Given the description of an element on the screen output the (x, y) to click on. 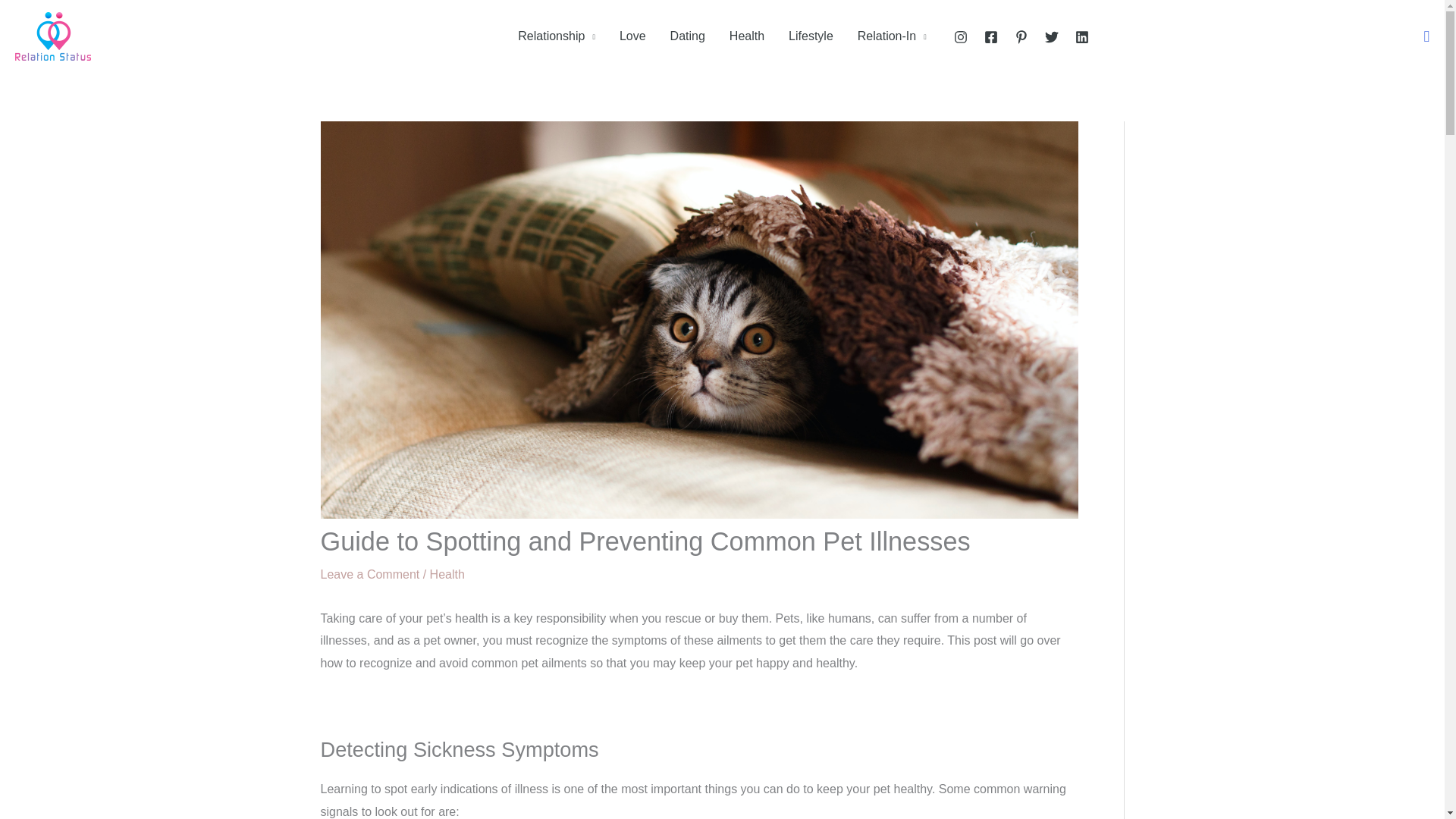
Health (446, 574)
Dating (687, 36)
Lifestyle (810, 36)
Relation-In (892, 36)
Health (746, 36)
Leave a Comment (369, 574)
Relationship (556, 36)
Love (632, 36)
